Given the description of an element on the screen output the (x, y) to click on. 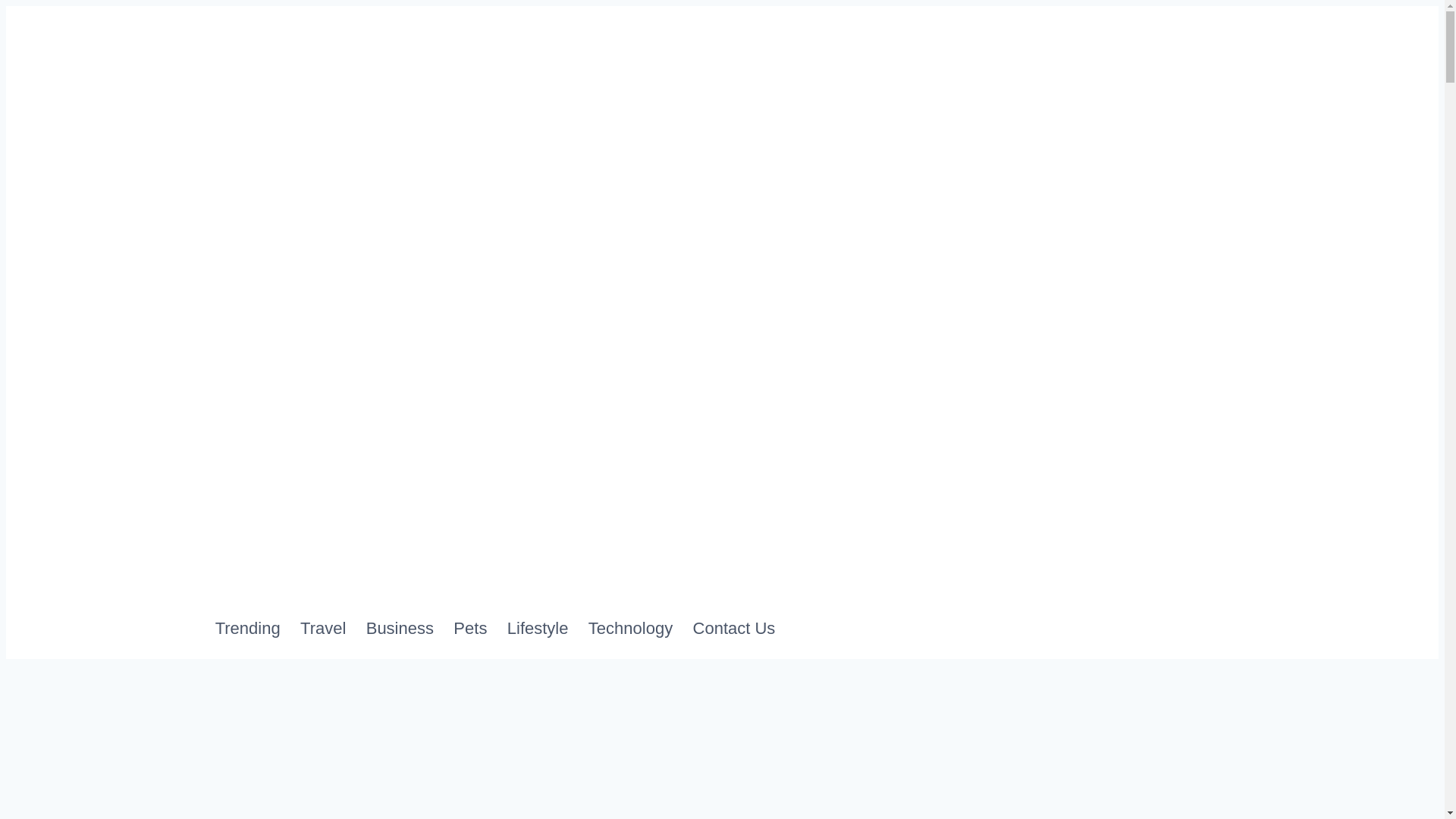
Business (410, 628)
Lifestyle (547, 628)
Pets (480, 628)
Contact Us (743, 628)
Travel (332, 628)
Trending (257, 628)
Technology (640, 628)
